Given the description of an element on the screen output the (x, y) to click on. 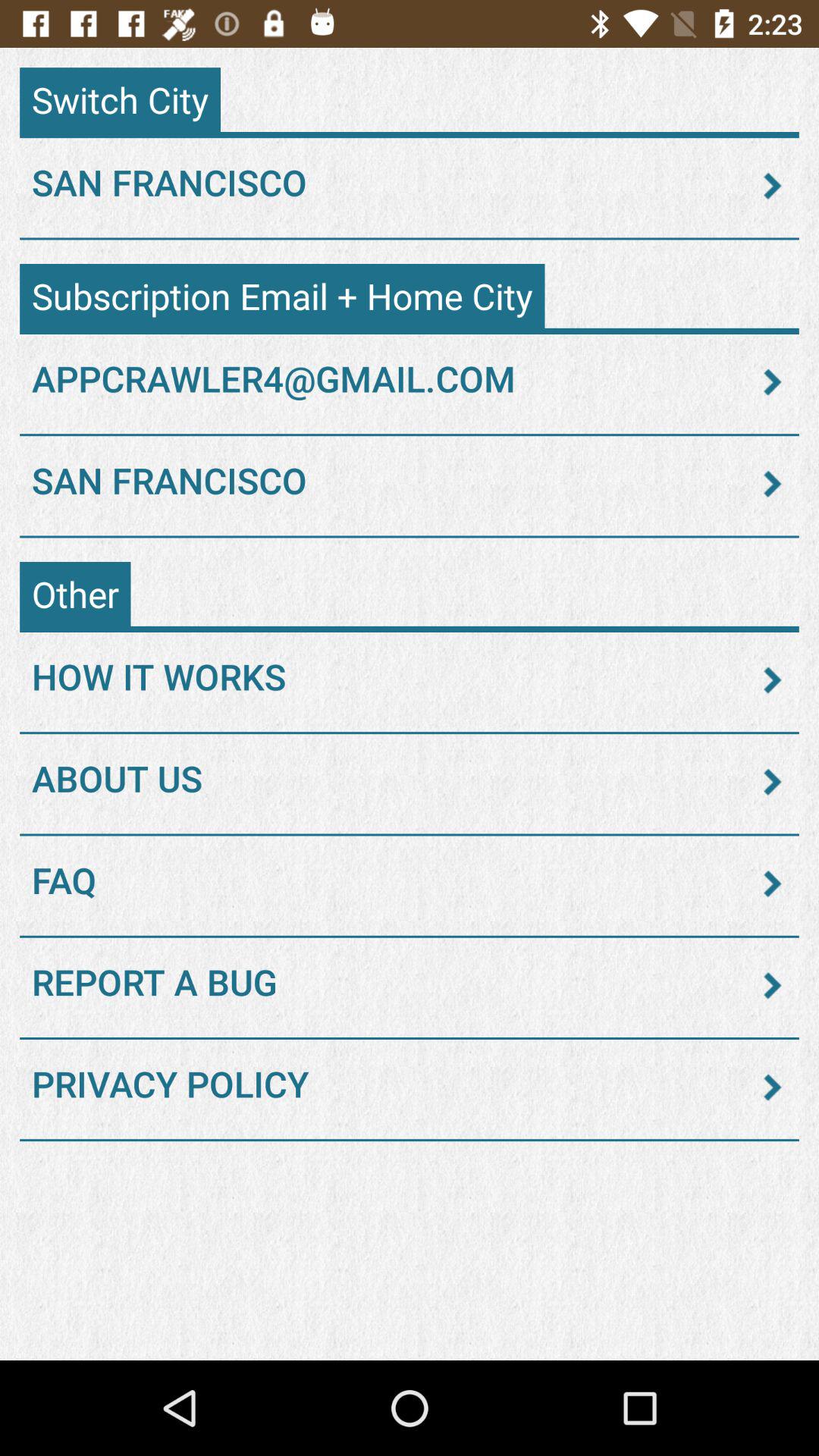
tap appcrawler4@gmail.com item (409, 381)
